Given the description of an element on the screen output the (x, y) to click on. 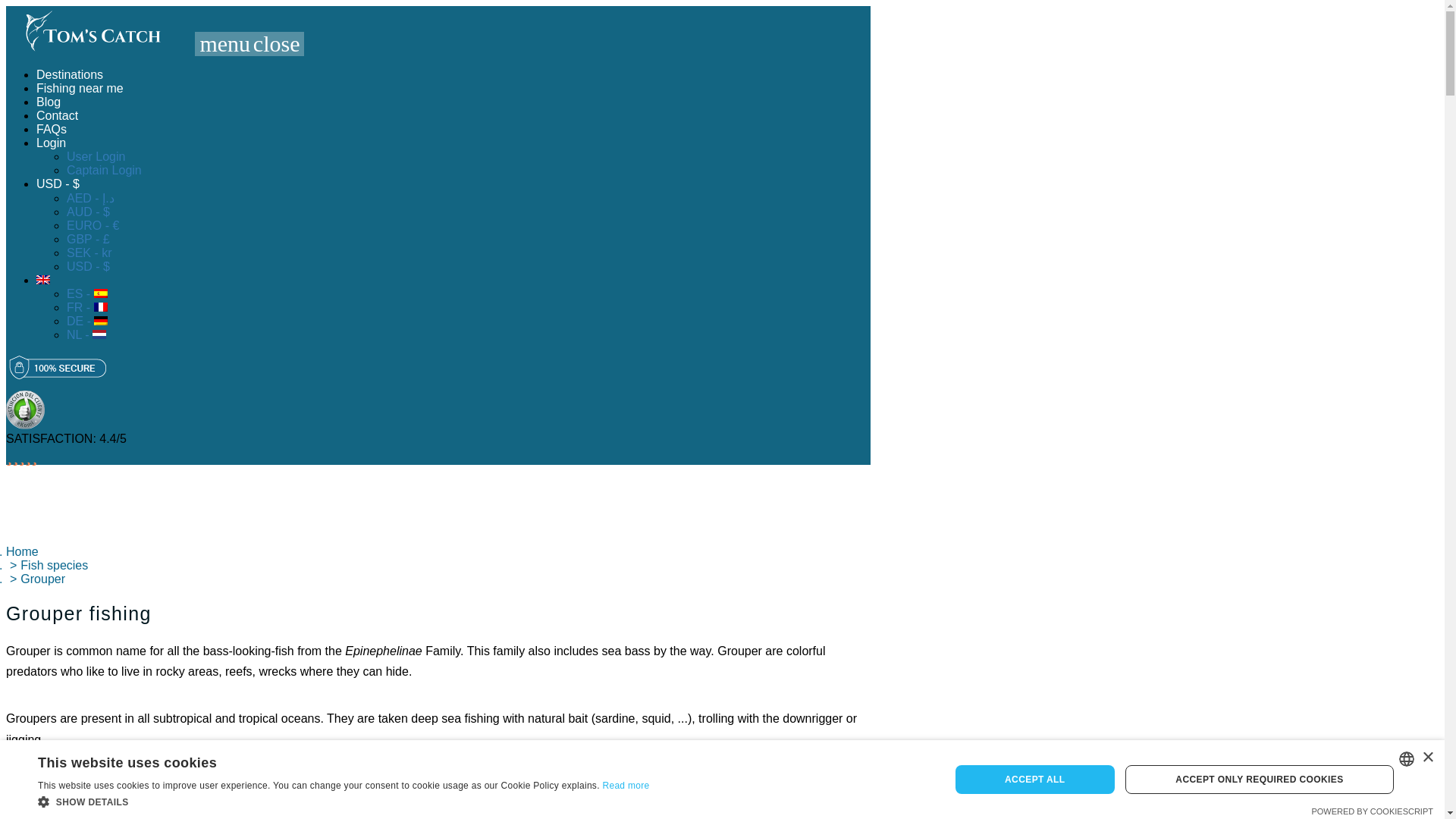
Login (52, 142)
SEK - kr (89, 252)
Fishing near me (79, 88)
Contact (57, 115)
Fish species (53, 564)
menu close (249, 43)
NL - (86, 334)
Blog (48, 101)
Captain Login (103, 169)
DE - (86, 320)
Destinations (69, 74)
FAQs (51, 128)
FR - (86, 307)
User Login (95, 155)
Home (22, 551)
